Given the description of an element on the screen output the (x, y) to click on. 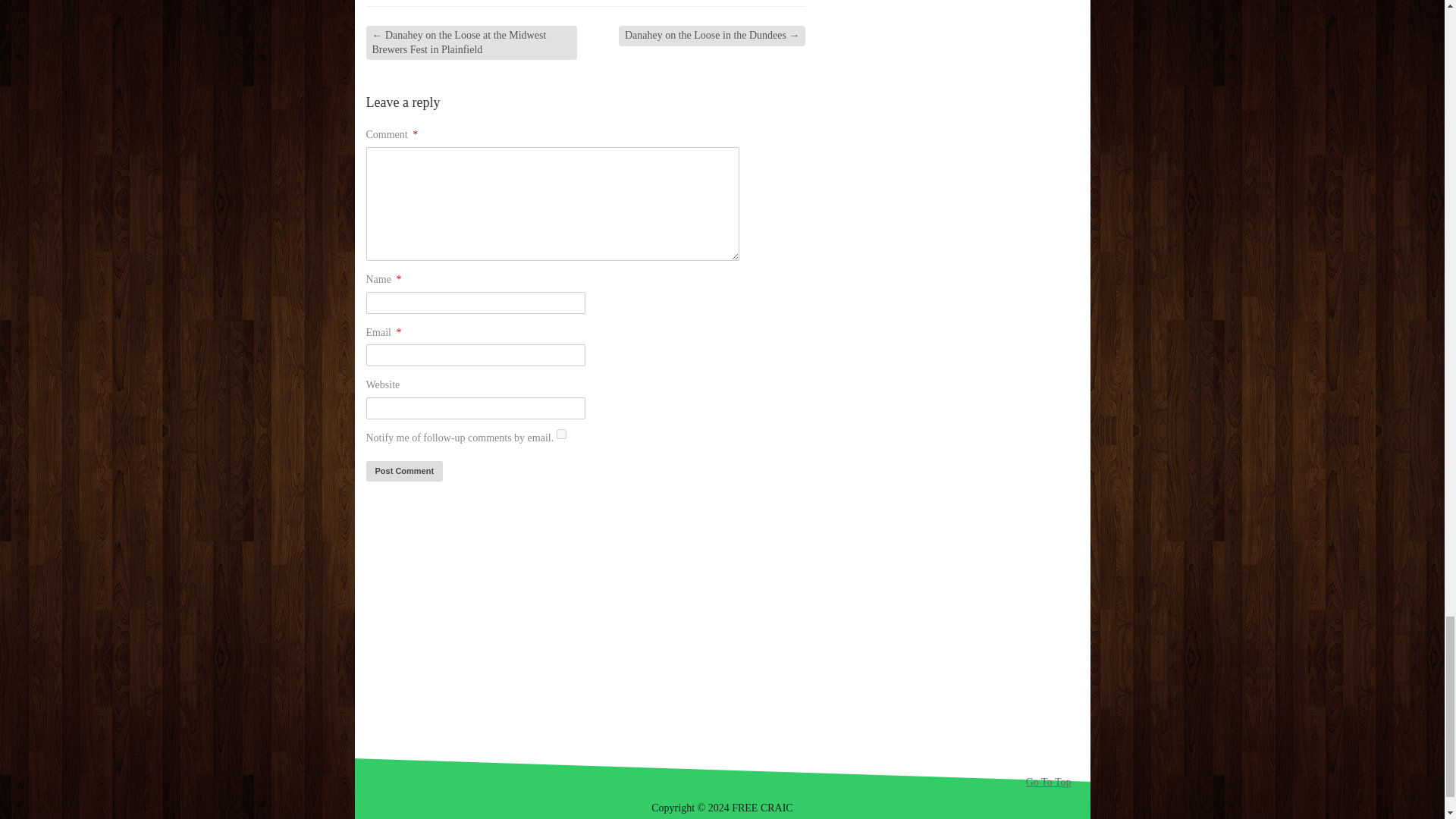
Post Comment (403, 471)
Post Comment (403, 471)
subscribe (561, 433)
